Given the description of an element on the screen output the (x, y) to click on. 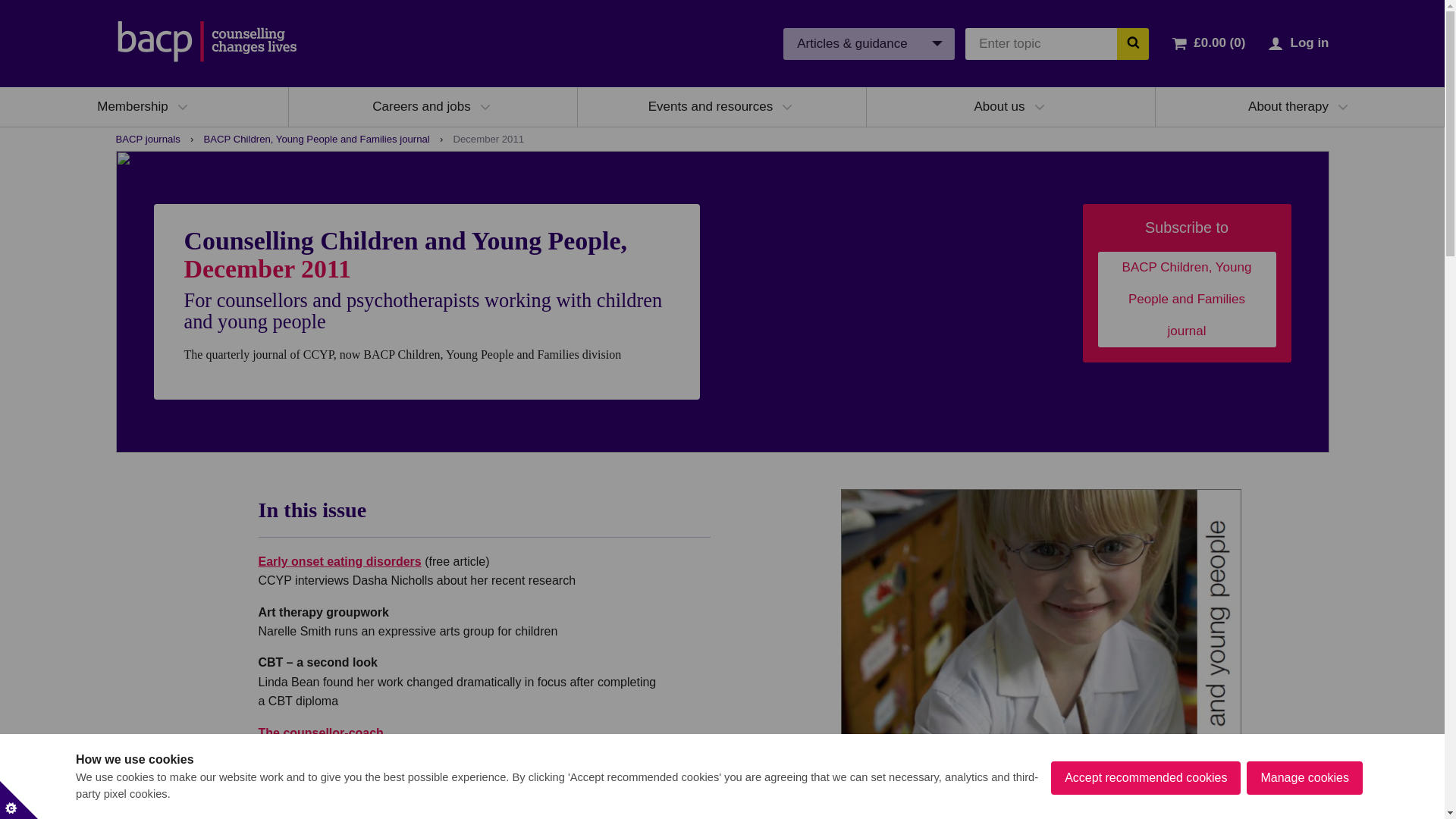
Search the BACP website (1132, 42)
Membership (132, 106)
Under 13 and eating disordered (338, 561)
Careers and jobs (421, 106)
Working at the boundary (319, 732)
Events and resources (710, 106)
Log in (1309, 42)
